Given the description of an element on the screen output the (x, y) to click on. 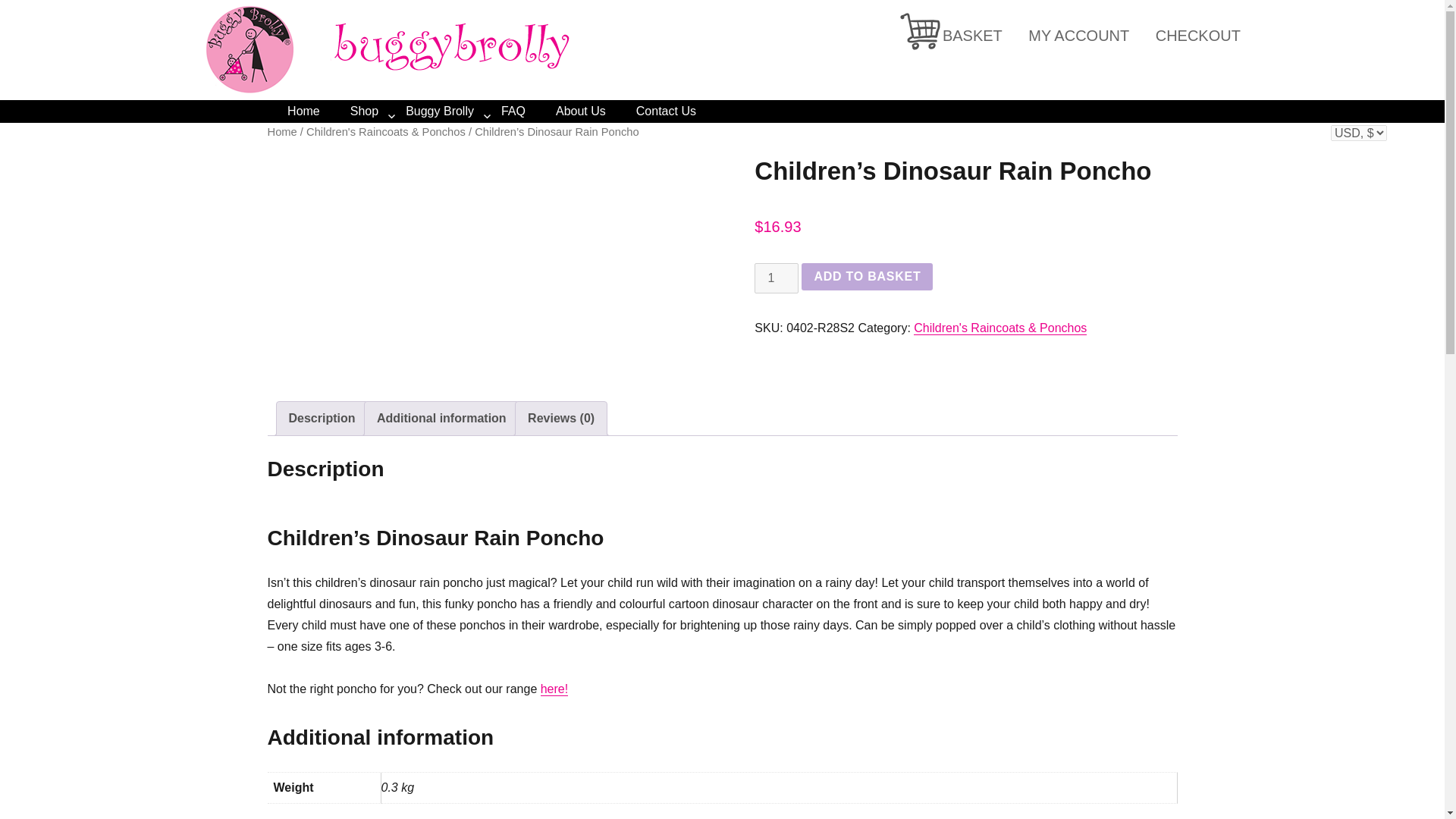
Buggy Brolly (453, 110)
here! (553, 688)
Description (321, 418)
MY ACCOUNT (1078, 35)
FAQ (528, 110)
ADD TO BASKET (867, 276)
BASKET (972, 35)
1 (775, 277)
Additional information (441, 418)
Contact Us (681, 110)
About Us (596, 110)
CHECKOUT (1198, 35)
Home (281, 132)
Shop (378, 110)
Home (318, 110)
